Given the description of an element on the screen output the (x, y) to click on. 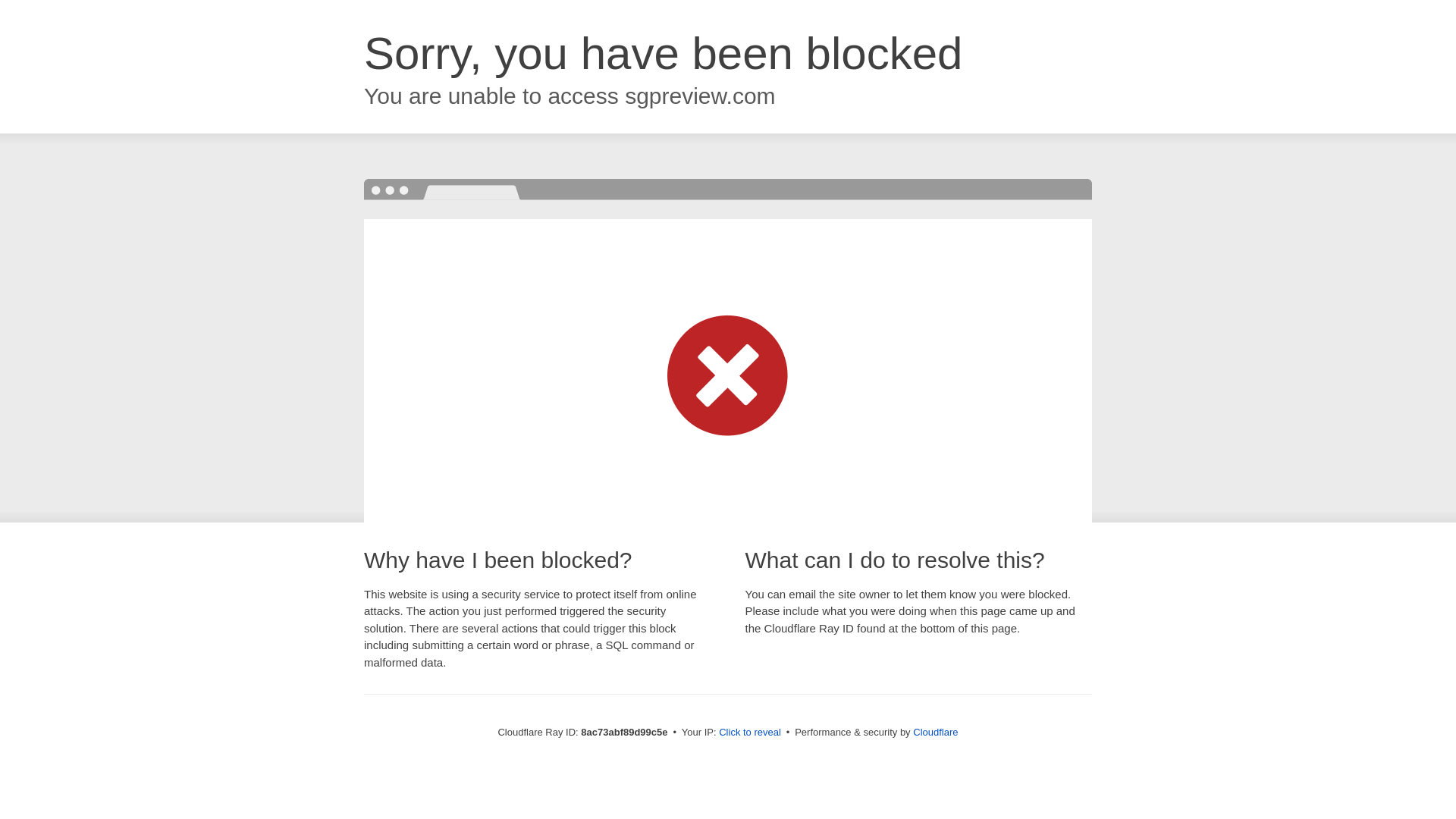
Cloudflare (935, 731)
Click to reveal (749, 732)
